Given the description of an element on the screen output the (x, y) to click on. 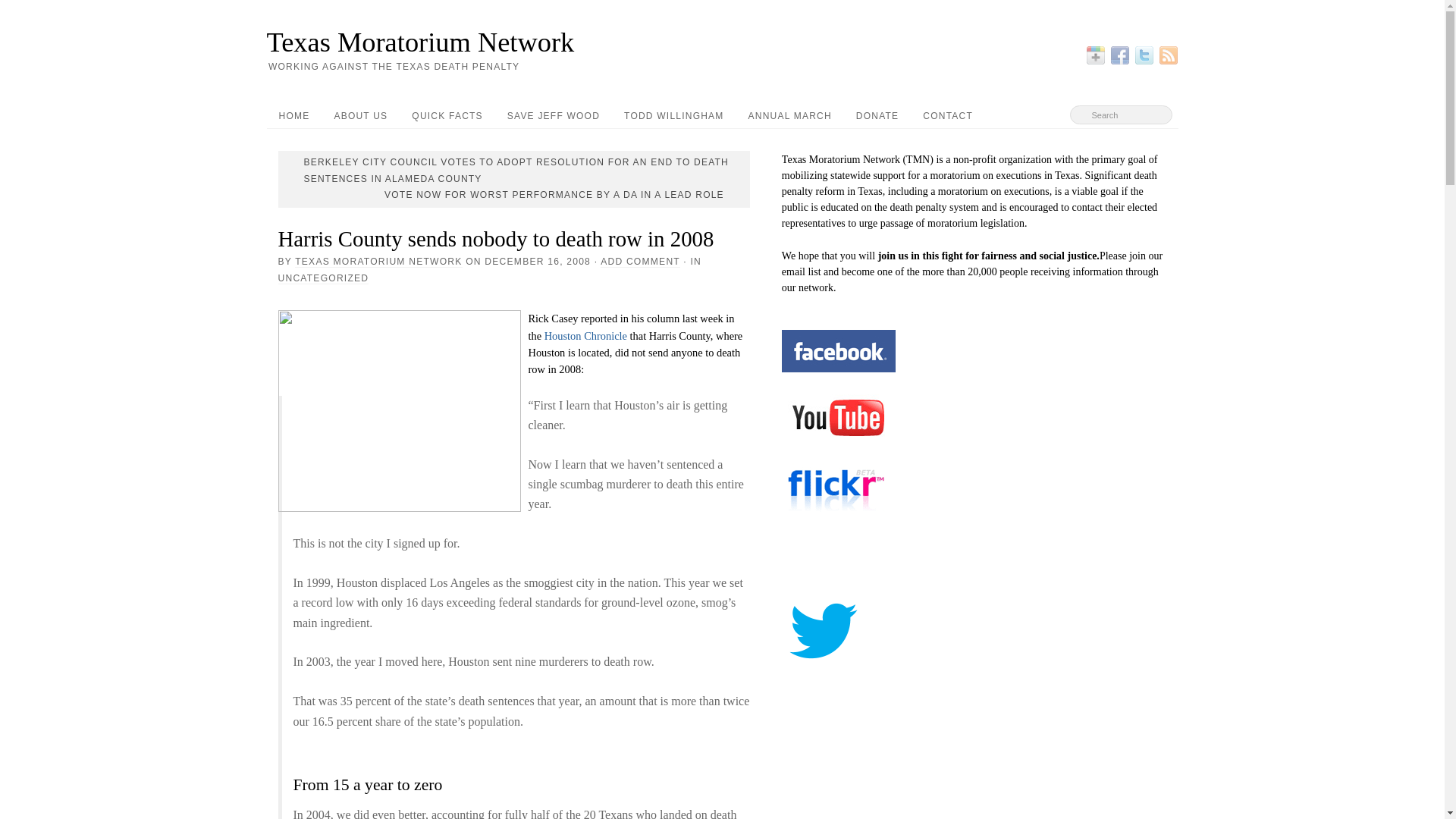
DONATE (877, 115)
Houston Chronicle (585, 336)
Posts by Texas Moratorium Network (378, 261)
TODD WILLINGHAM (673, 115)
TEXAS MORATORIUM NETWORK (378, 261)
Home (721, 42)
HOME (293, 115)
SAVE JEFF WOOD (553, 115)
ABOUT US (359, 115)
ANNUAL MARCH (790, 115)
